Given the description of an element on the screen output the (x, y) to click on. 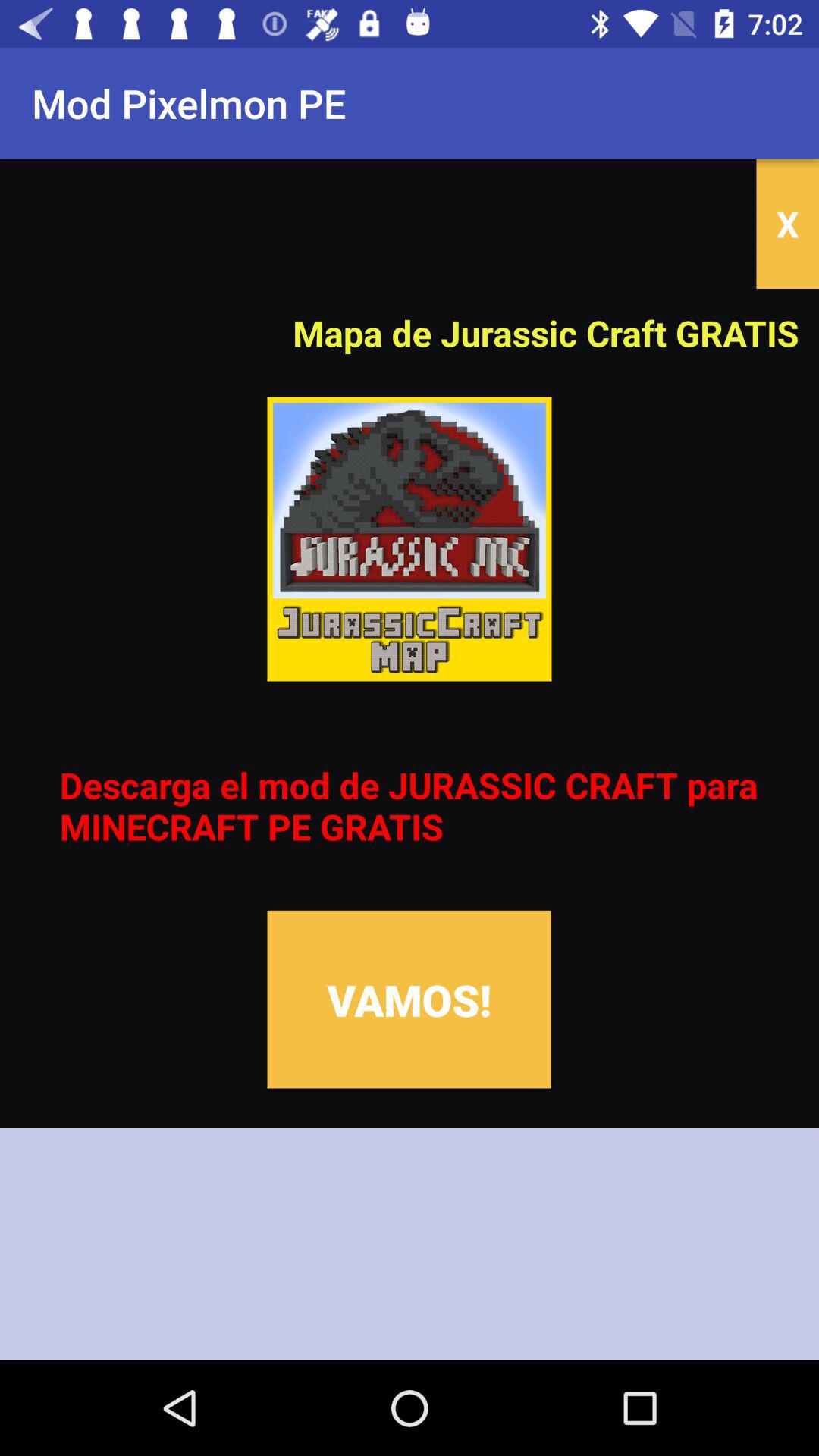
jump until vamos! (409, 999)
